Given the description of an element on the screen output the (x, y) to click on. 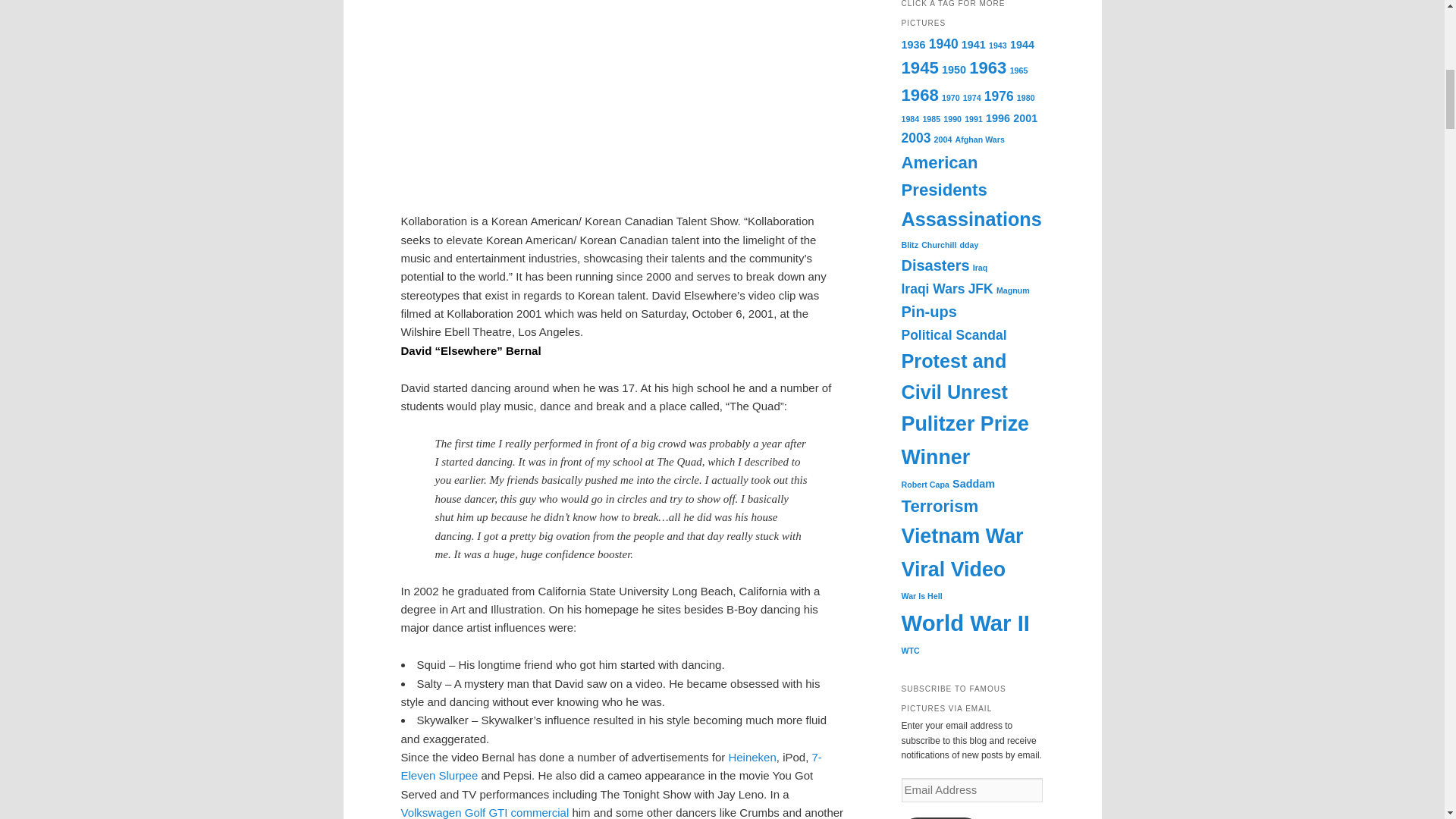
7-Eleven Slurpee (610, 766)
Heineken (752, 757)
Volkswagen Golf GTI commercial (484, 812)
